Given the description of an element on the screen output the (x, y) to click on. 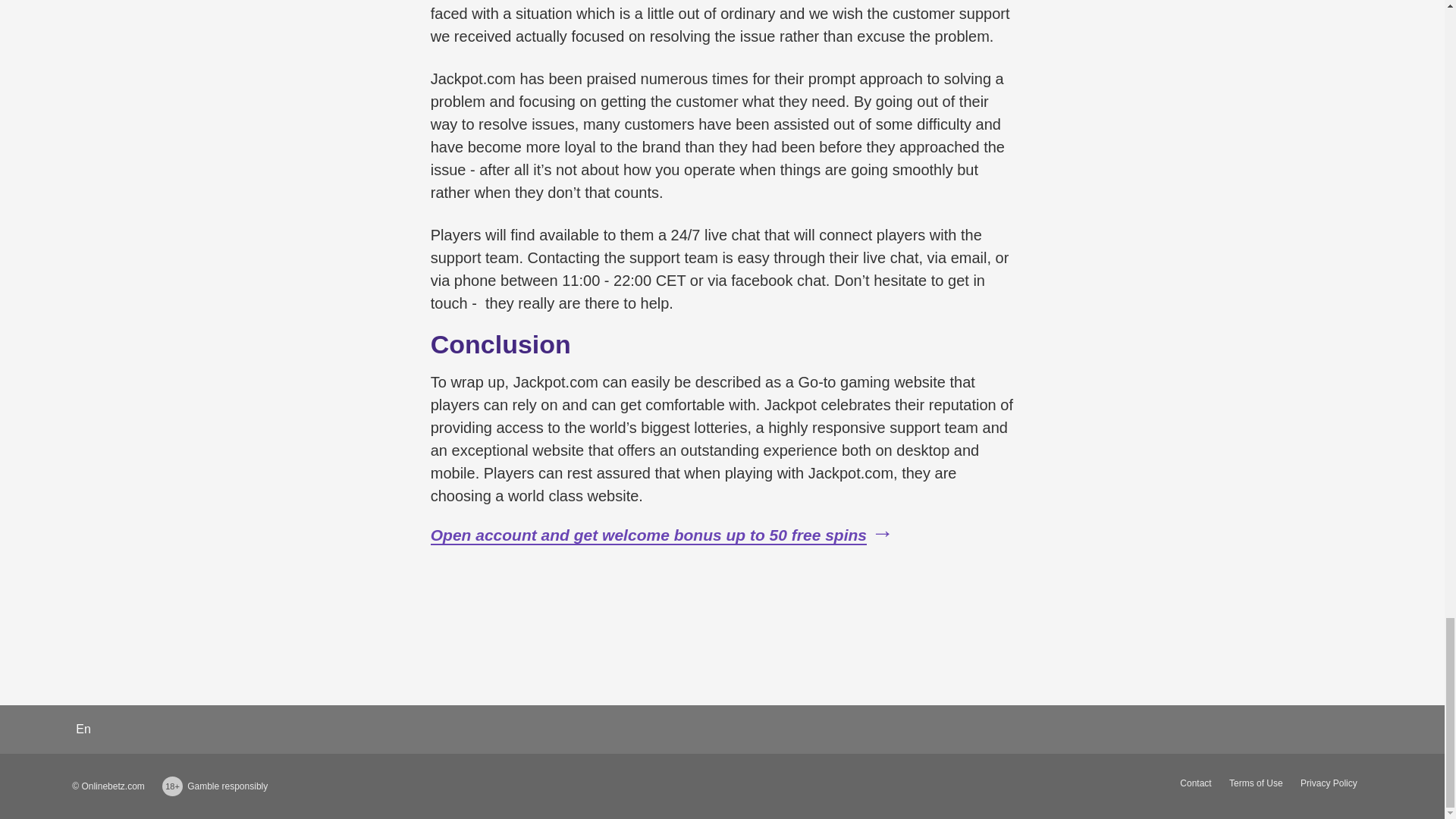
En (82, 728)
Contact (1195, 783)
Terms of Use (1255, 783)
Open account and get welcome bonus up to 50 free spins (648, 535)
Privacy Policy (1328, 783)
Gamble responsibly (227, 786)
